Given the description of an element on the screen output the (x, y) to click on. 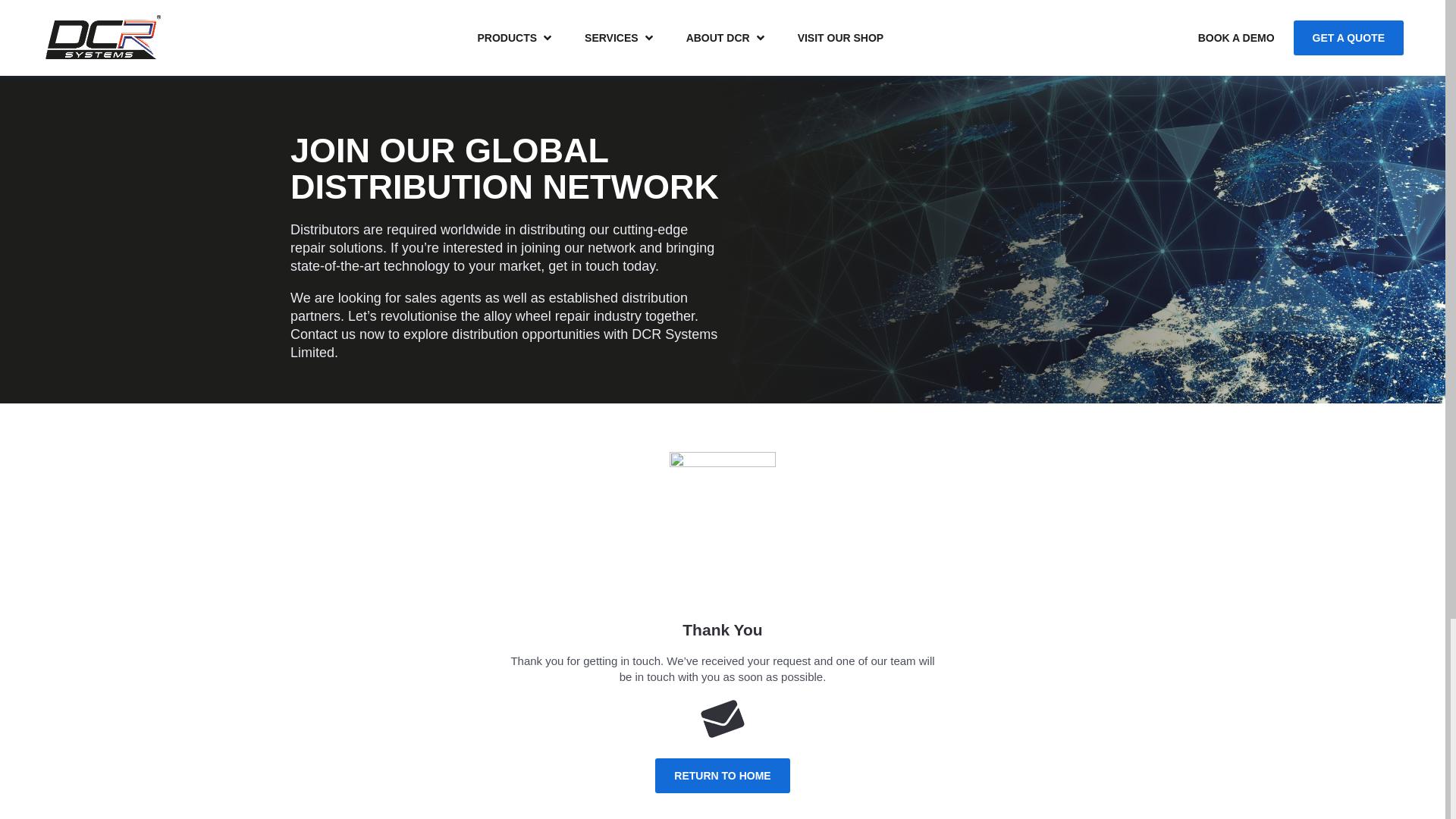
SERVICES (612, 38)
ABOUT DCR (717, 38)
PRODUCTS (507, 38)
VISIT OUR SHOP (840, 38)
